Given the description of an element on the screen output the (x, y) to click on. 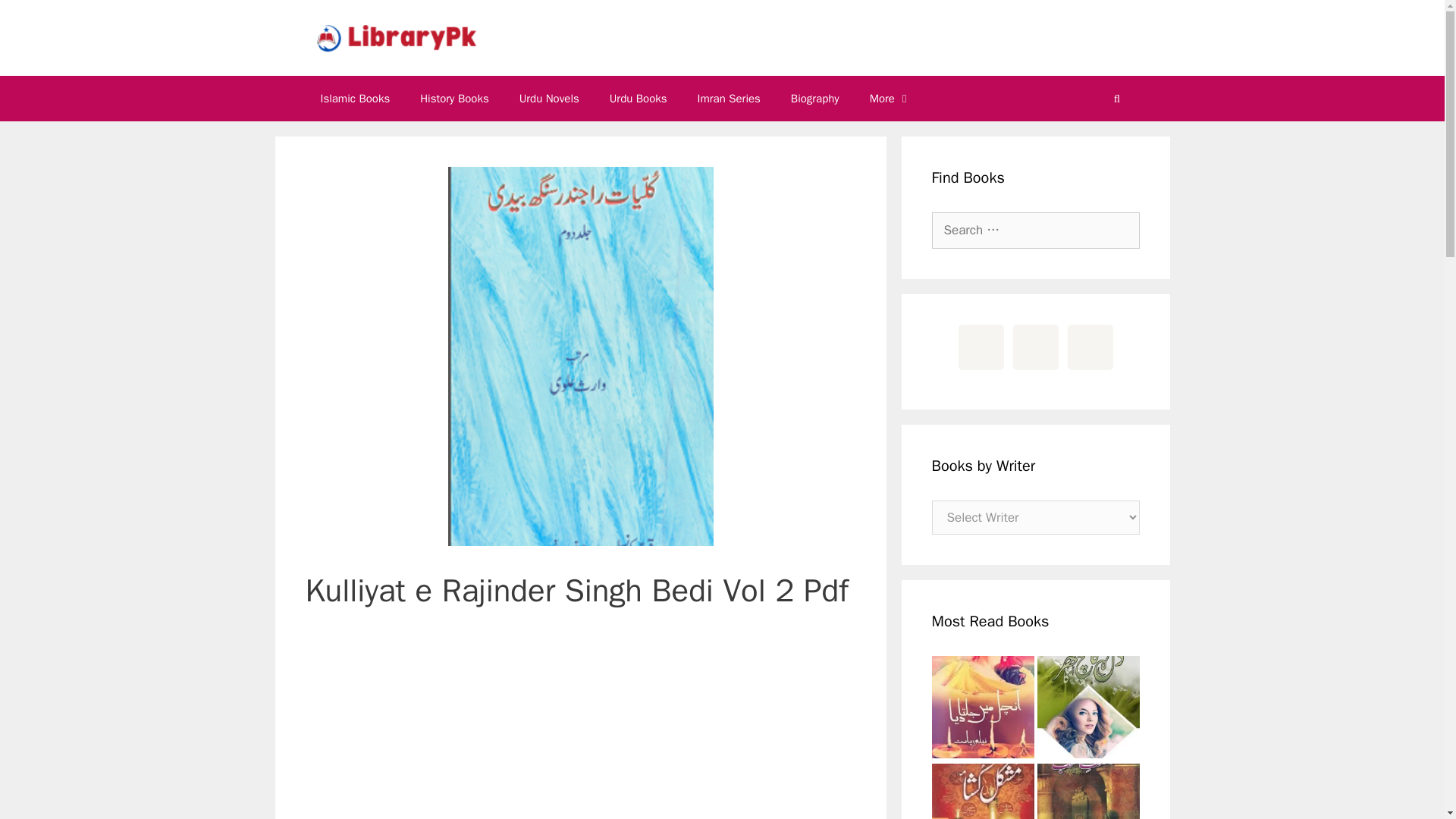
Urdu Novels (548, 98)
Imran Series (729, 98)
Shikast e Shab Novel By Farida Ashfaq Pdf (1088, 791)
Search (35, 18)
Islamic Books (354, 98)
More (890, 98)
Urdu Books (638, 98)
Advertisement (580, 727)
Biography (815, 98)
Aanchal Mein Jalta Diya Novel By Neelam Riasat Pdf (982, 709)
